Given the description of an element on the screen output the (x, y) to click on. 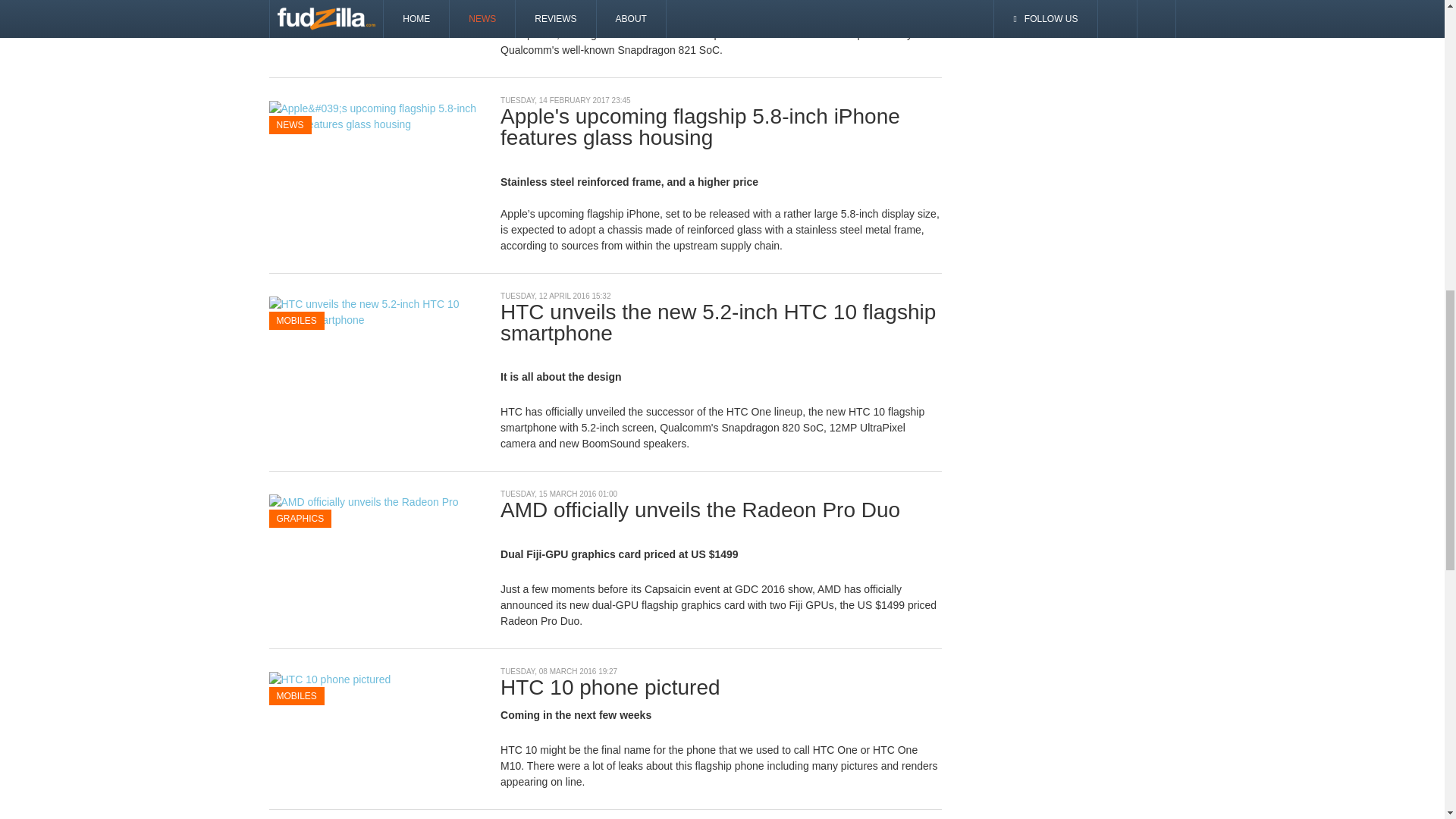
HTC 10 phone pictured (328, 679)
HTC unveils the new 5.2-inch HTC 10 flagship smartphone (372, 310)
AMD officially unveils the Radeon Pro Duo (372, 509)
